Given the description of an element on the screen output the (x, y) to click on. 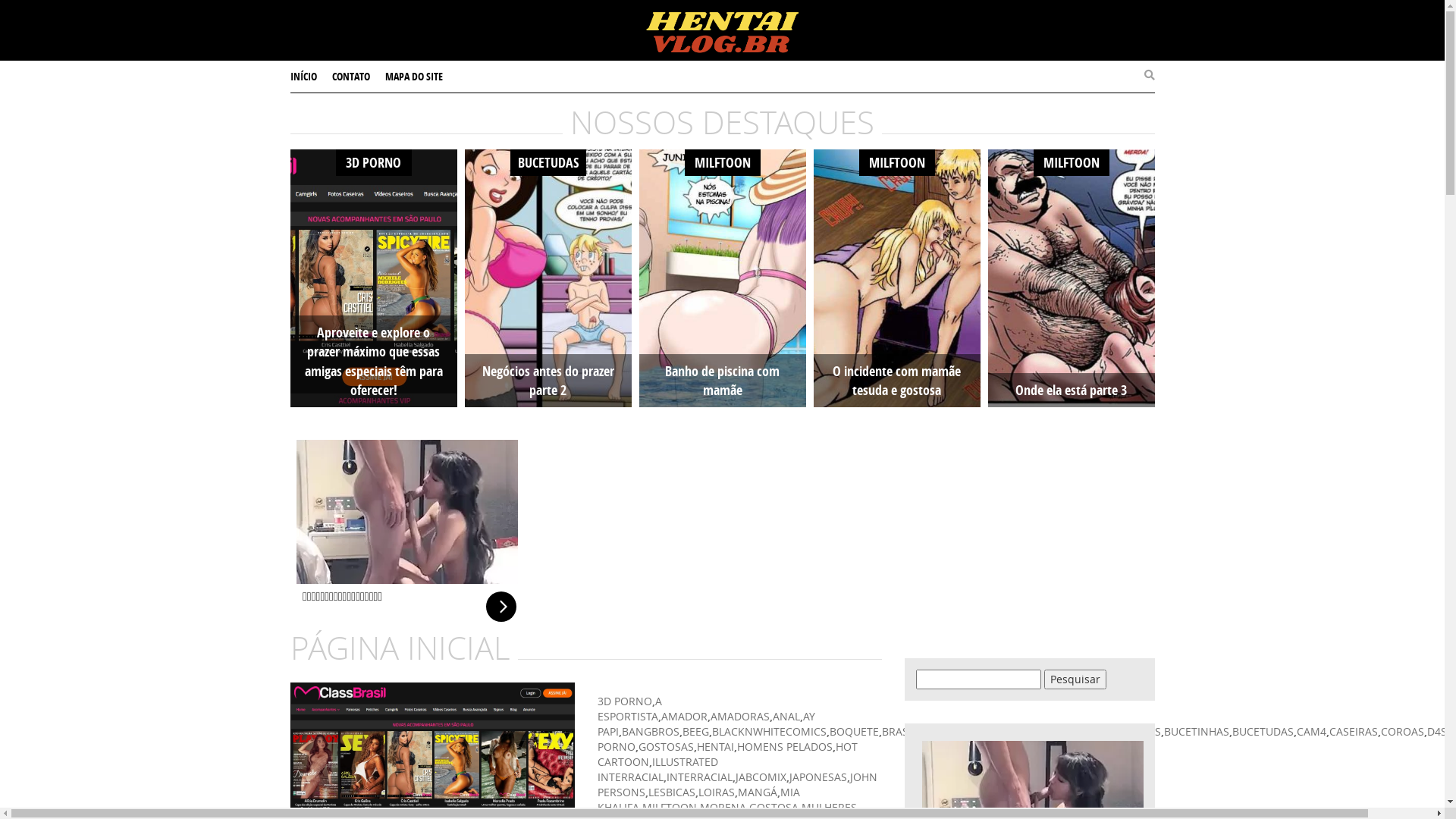
INTERRACIAL, Element type: text (699, 776)
BEEG, Element type: text (697, 731)
CAM4, Element type: text (1312, 731)
AY PAPI, Element type: text (706, 723)
MAPA DO SITE Element type: text (413, 76)
HOMENS PELADOS, Element type: text (786, 746)
ILLUSTRATED INTERRACIAL, Element type: text (657, 769)
LOIRAS, Element type: text (717, 791)
MIA KHALIFA, Element type: text (698, 799)
ANAL, Element type: text (786, 716)
JAPONESAS, Element type: text (818, 776)
COROAS, Element type: text (1403, 731)
MILFTOON, Element type: text (670, 807)
BUCETINHAS, Element type: text (1197, 731)
AMADORAS, Element type: text (740, 716)
AMADOR, Element type: text (685, 716)
BRAZZERS, Element type: text (994, 731)
JABCOMIX, Element type: text (762, 776)
BRASILEIRINHAS, Element type: text (923, 731)
BOQUETE, Element type: text (855, 731)
LESBICAS, Element type: text (672, 791)
GOSTOSAS, Element type: text (667, 746)
BANGBROS, Element type: text (651, 731)
CASEIRAS, Element type: text (1354, 731)
BUCETAS, Element type: text (1138, 731)
A ESPORTISTA, Element type: text (629, 708)
MORENA GOSTOSA, Element type: text (749, 807)
HOT CARTOON, Element type: text (727, 753)
3D PORNO, Element type: text (626, 700)
CONTATO Element type: text (350, 76)
Pesquisar Element type: text (1074, 679)
BUCETUDAS, Element type: text (1263, 731)
BUCETA, Element type: text (1043, 731)
HENTAI, Element type: text (716, 746)
JOHN PERSONS, Element type: text (737, 784)
BLACKNWHITECOMICS, Element type: text (769, 731)
